Given the description of an element on the screen output the (x, y) to click on. 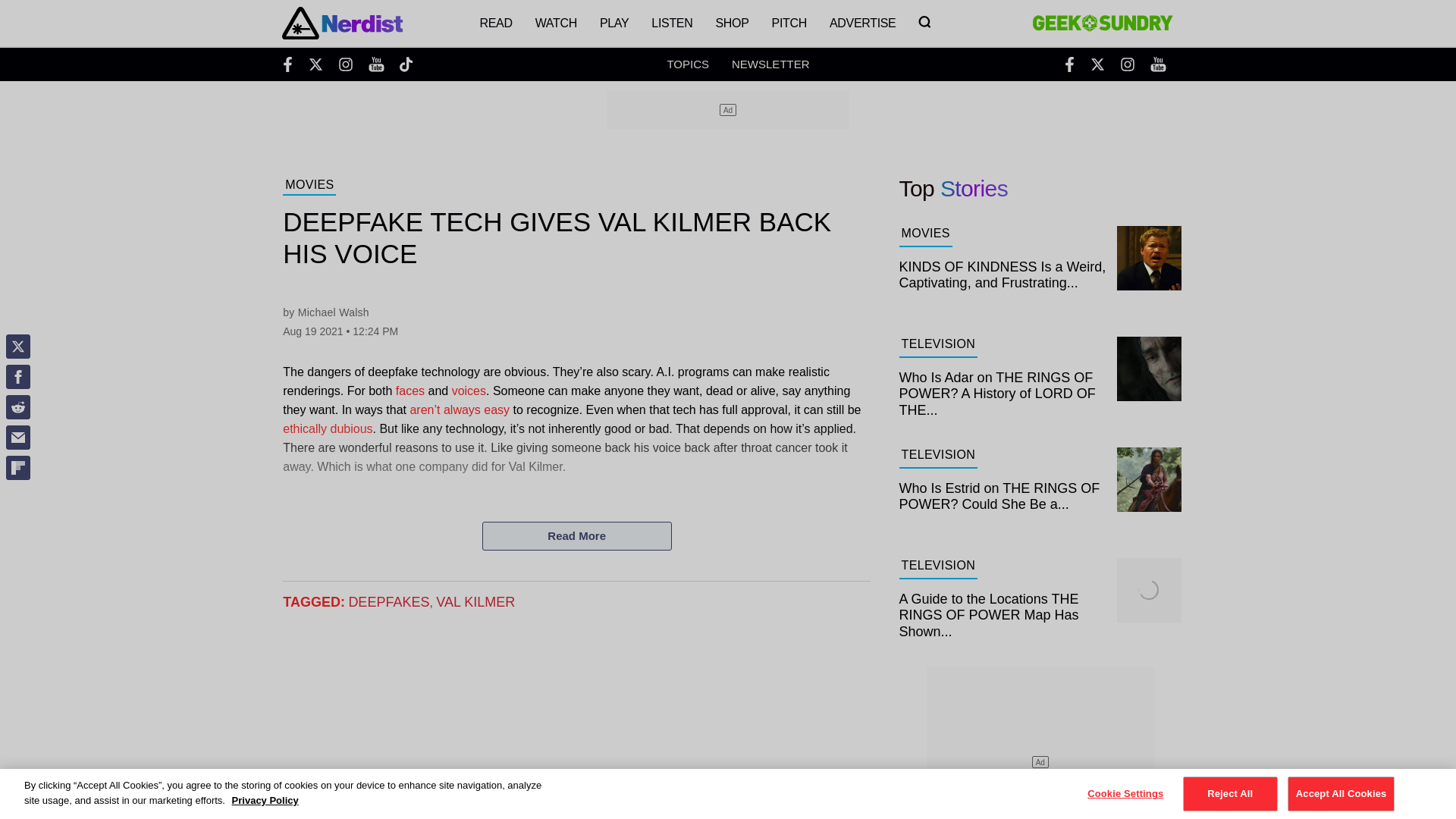
ethically dubious (327, 428)
MOVIES (309, 185)
Cookie Settings (1125, 793)
PLAY (614, 22)
Accept All Cookies (1340, 793)
PITCH (789, 22)
Reject All (1230, 793)
faces (410, 390)
voices (468, 390)
WATCH (556, 22)
